Given the description of an element on the screen output the (x, y) to click on. 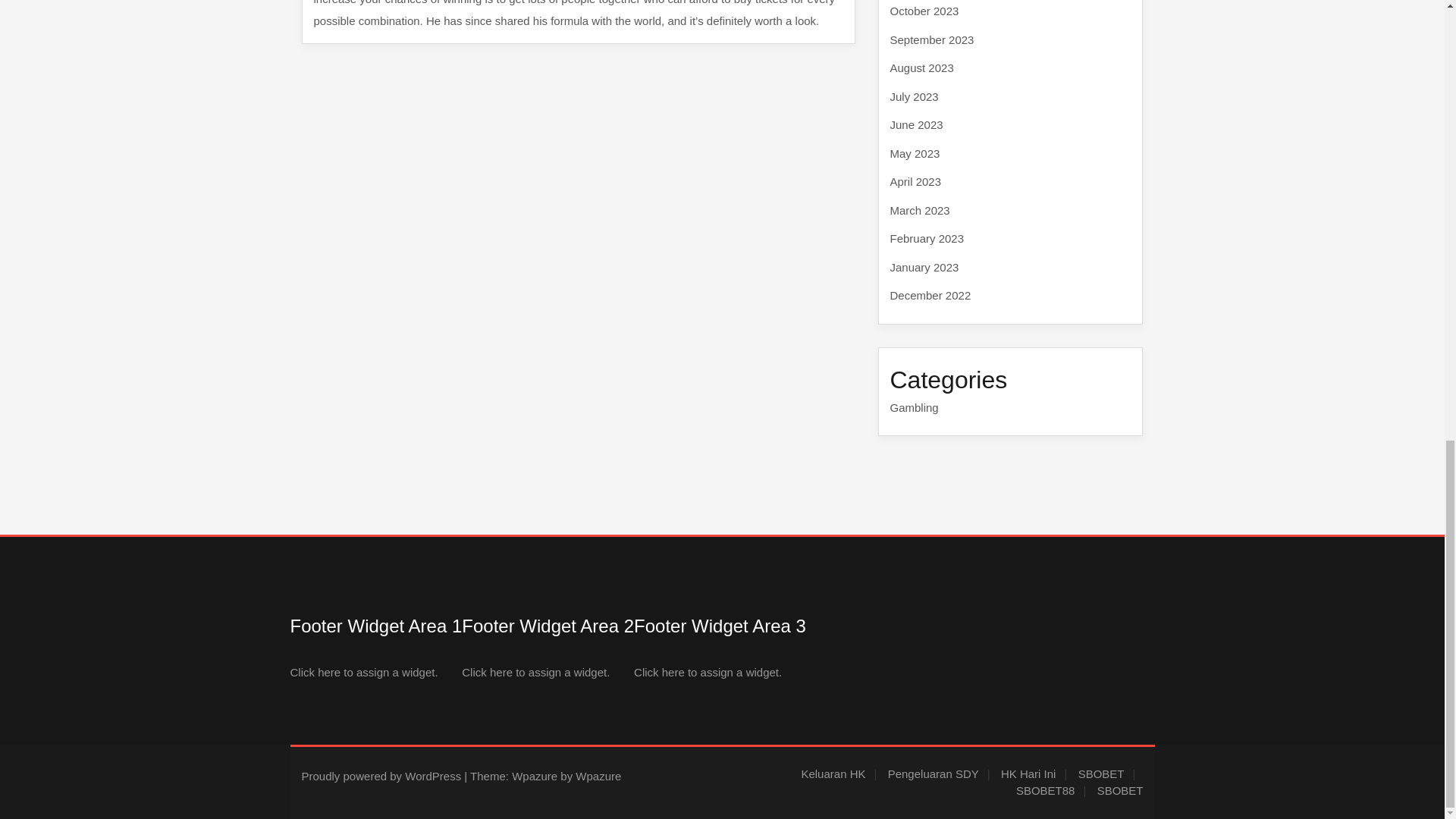
SBOBET (1119, 789)
Click here to assign a widget. (535, 671)
June 2023 (916, 124)
HK Hari Ini (1034, 772)
Pengeluaran SDY (939, 772)
SBOBET (1106, 772)
July 2023 (914, 96)
February 2023 (926, 237)
Keluaran HK (838, 772)
December 2022 (930, 295)
October 2023 (924, 10)
April 2023 (915, 181)
Click here to assign a widget. (363, 671)
May 2023 (914, 152)
March 2023 (919, 210)
